Given the description of an element on the screen output the (x, y) to click on. 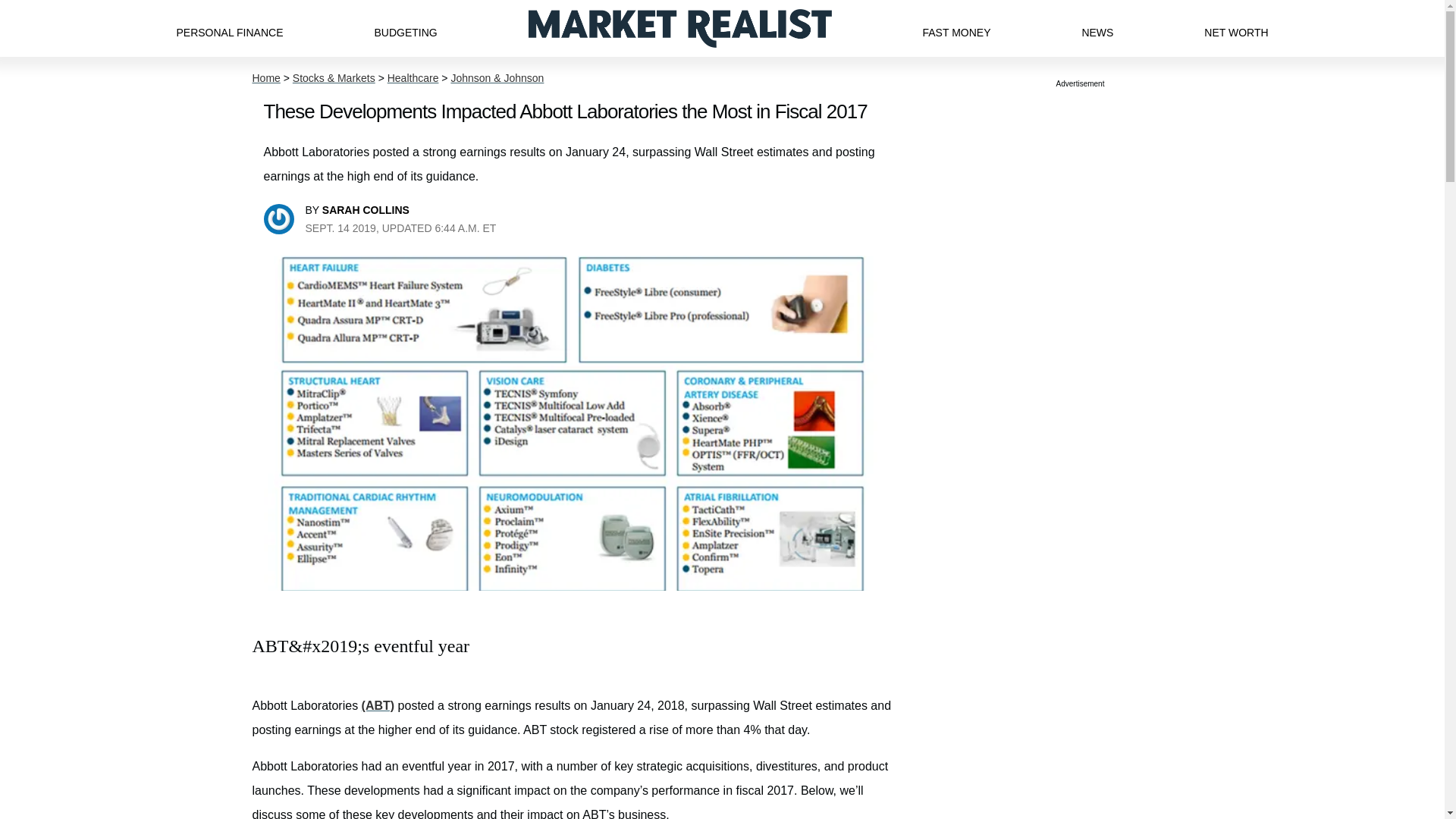
FAST MONEY (955, 27)
NEWS (1097, 27)
PERSONAL FINANCE (229, 27)
SARAH COLLINS (365, 209)
BUDGETING (405, 27)
Home (265, 78)
Healthcare (413, 78)
NET WORTH (1236, 27)
